Given the description of an element on the screen output the (x, y) to click on. 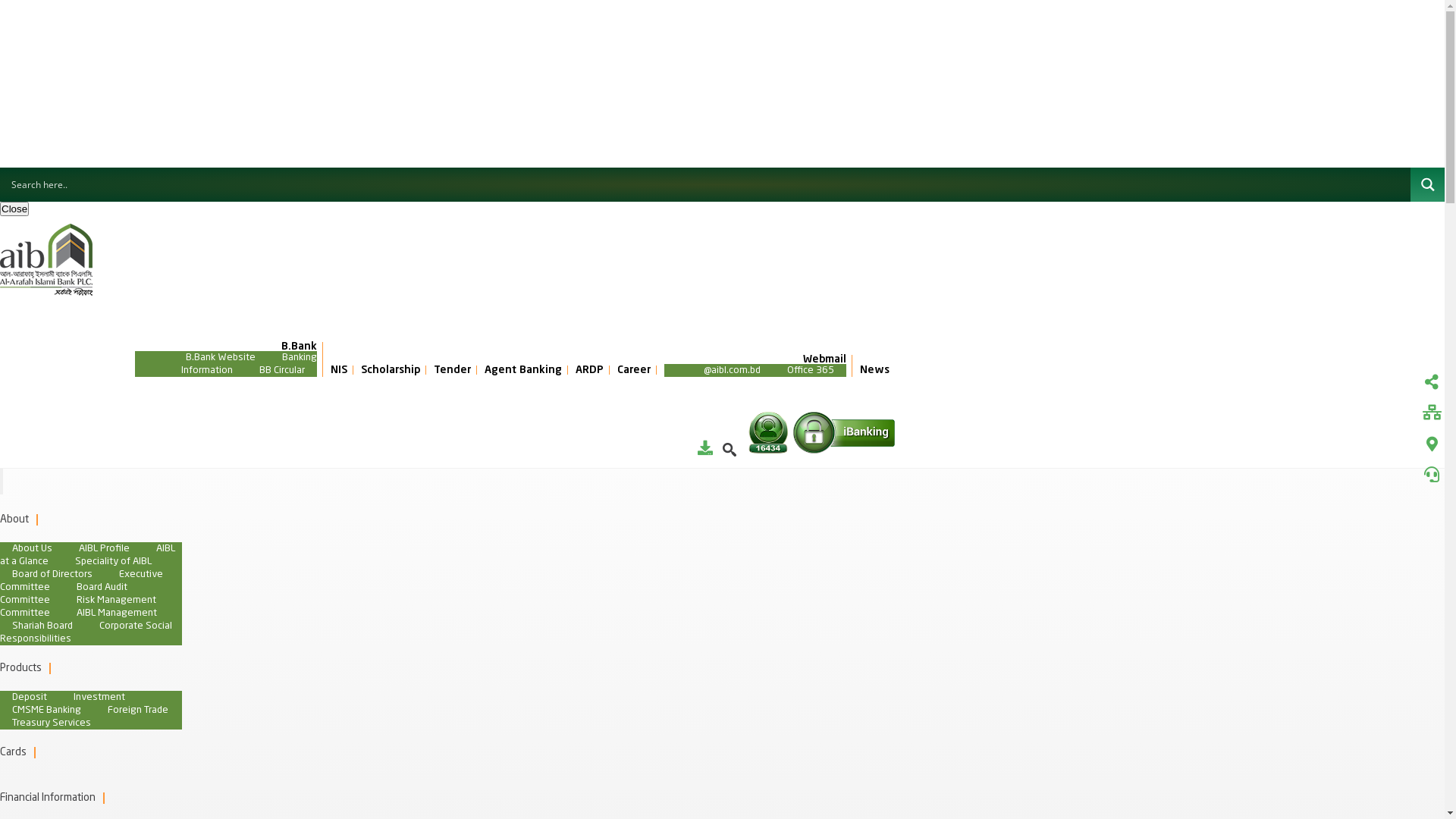
Office 365 Element type: text (810, 370)
Financial Information Element type: text (47, 797)
Risk Management Committee Element type: text (78, 606)
News Element type: text (874, 369)
Shariah Board Element type: text (42, 625)
Close Element type: text (14, 208)
AIBL Profile Element type: text (103, 548)
AIBL Management Element type: text (116, 613)
Corporate Social Responsibilities Element type: text (86, 632)
Deposit Element type: text (29, 697)
Board of Directors Element type: text (52, 574)
Tender Element type: text (451, 369)
Investment Element type: text (99, 697)
AIBL at a Glance Element type: text (87, 554)
Executive Committee Element type: text (81, 580)
Career Element type: text (633, 369)
About Us Element type: text (32, 548)
CMSME Banking Element type: text (46, 710)
Board Audit Committee Element type: text (63, 593)
Webmail Element type: text (755, 359)
@aibl.com.bd Element type: text (731, 370)
About Element type: text (14, 519)
Speciality of AIBL Element type: text (112, 561)
B.Bank Element type: text (225, 345)
NIS Element type: text (338, 369)
Treasury Services Element type: text (51, 723)
Banking Information Element type: text (248, 362)
Scholarship Element type: text (390, 369)
Products Element type: text (20, 667)
B.Bank Website Element type: text (220, 356)
Foreign Trade Element type: text (137, 710)
Cards Element type: text (13, 751)
BB Circular Element type: text (281, 370)
ARDP Element type: text (589, 369)
Agent Banking Element type: text (522, 369)
